Given the description of an element on the screen output the (x, y) to click on. 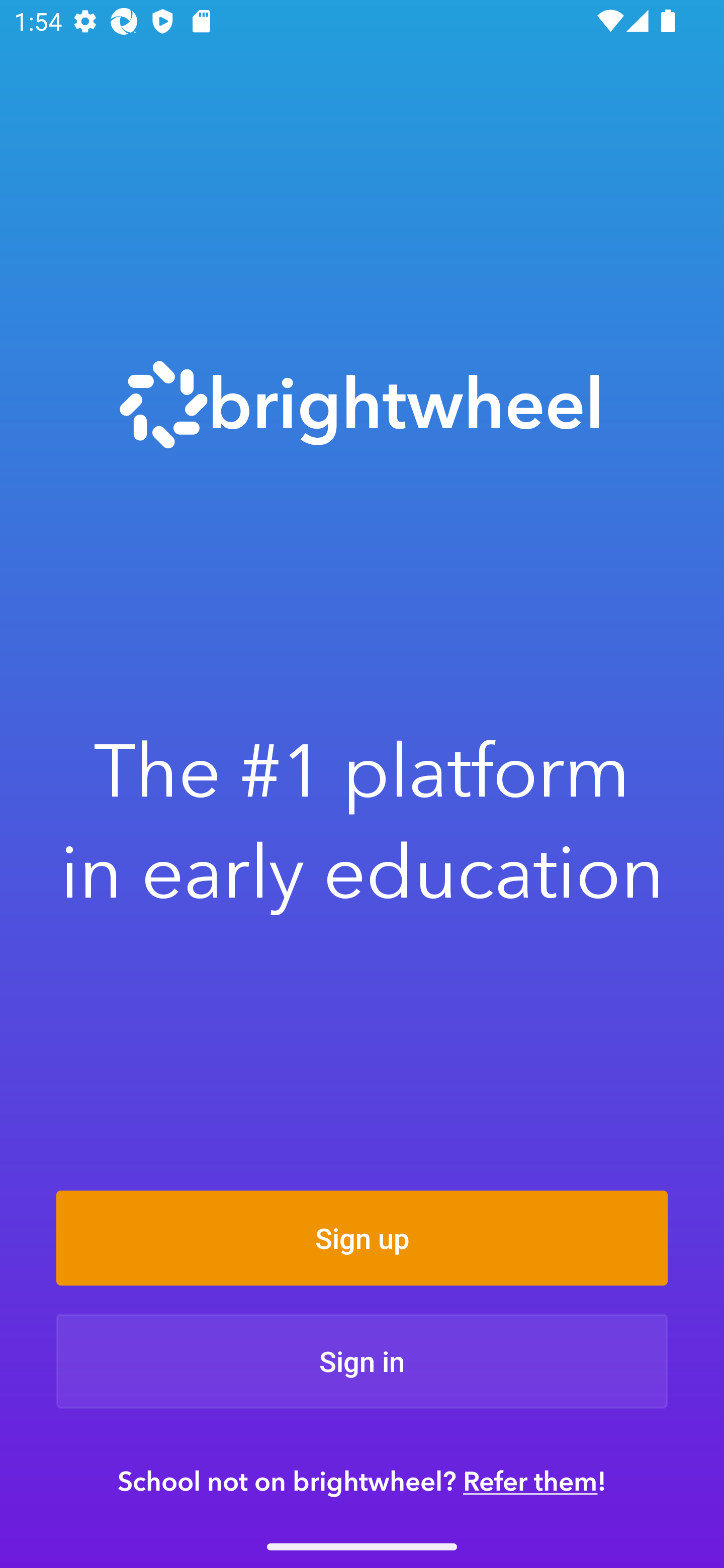
Sign up (361, 1237)
Sign in (361, 1360)
School not on brightwheel? Refer them! (361, 1480)
